Given the description of an element on the screen output the (x, y) to click on. 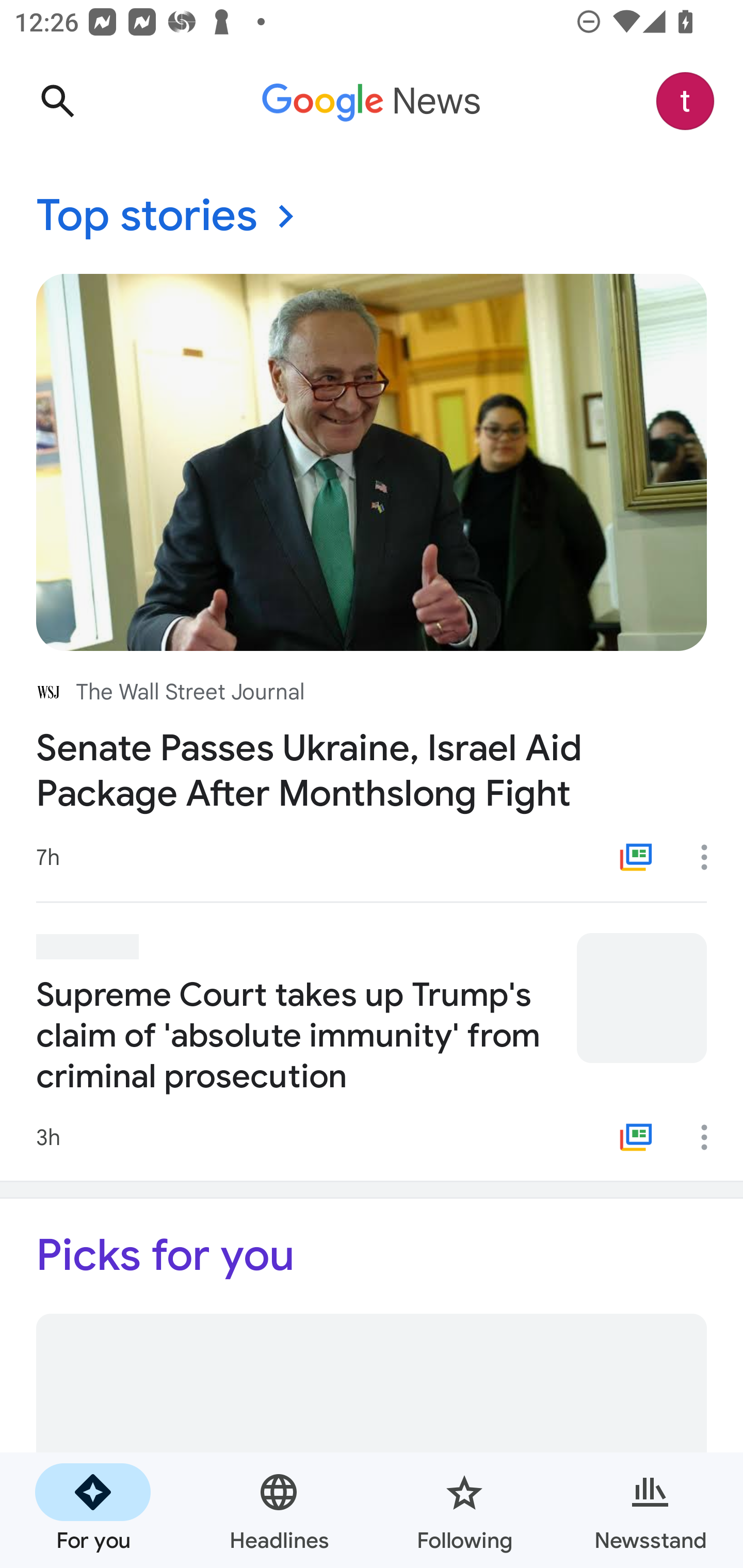
Search (57, 100)
Top stories (371, 216)
More options (711, 856)
More options (711, 1137)
For you (92, 1509)
Headlines (278, 1509)
Following (464, 1509)
Newsstand (650, 1509)
